Given the description of an element on the screen output the (x, y) to click on. 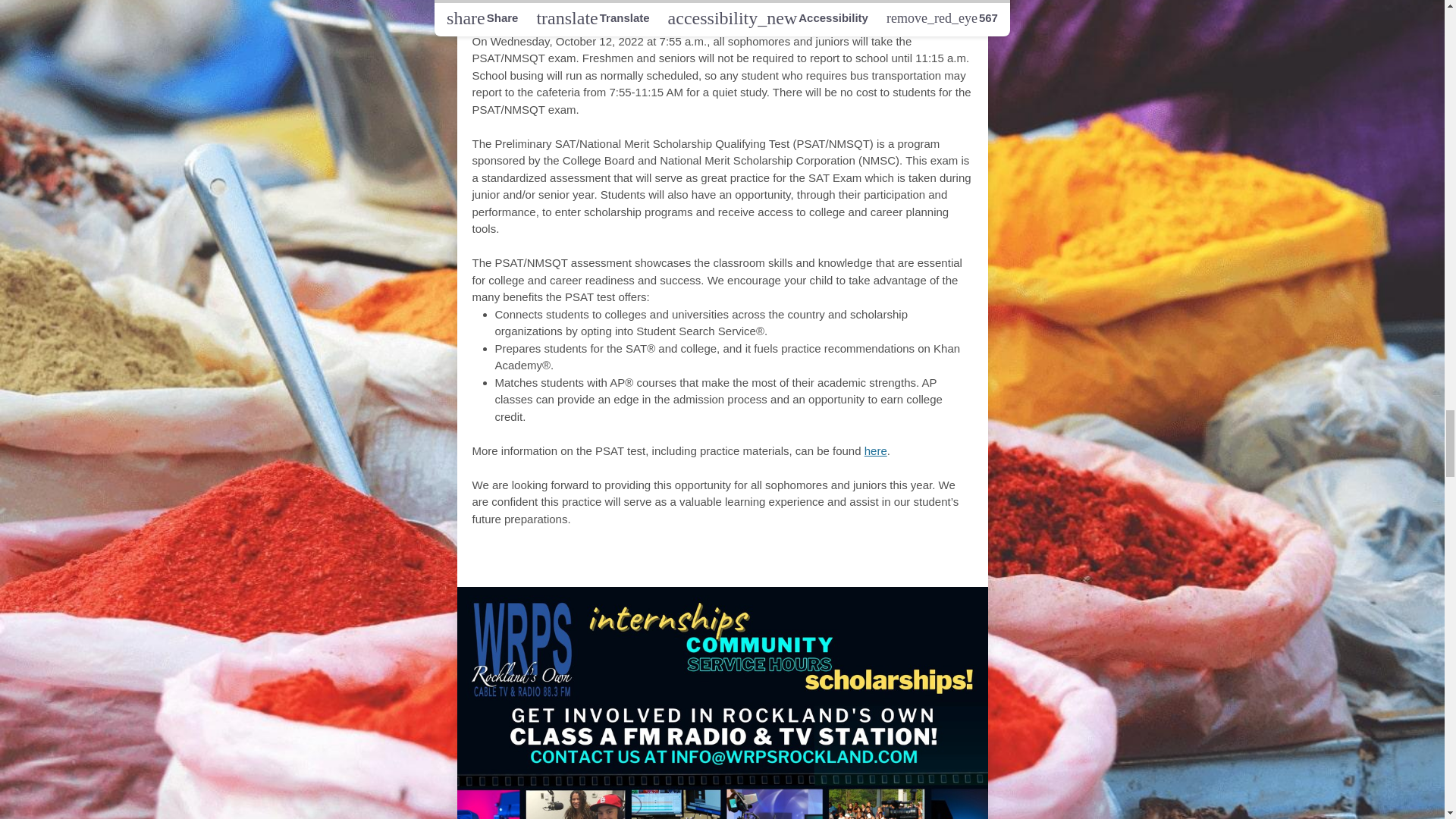
here (875, 450)
